Given the description of an element on the screen output the (x, y) to click on. 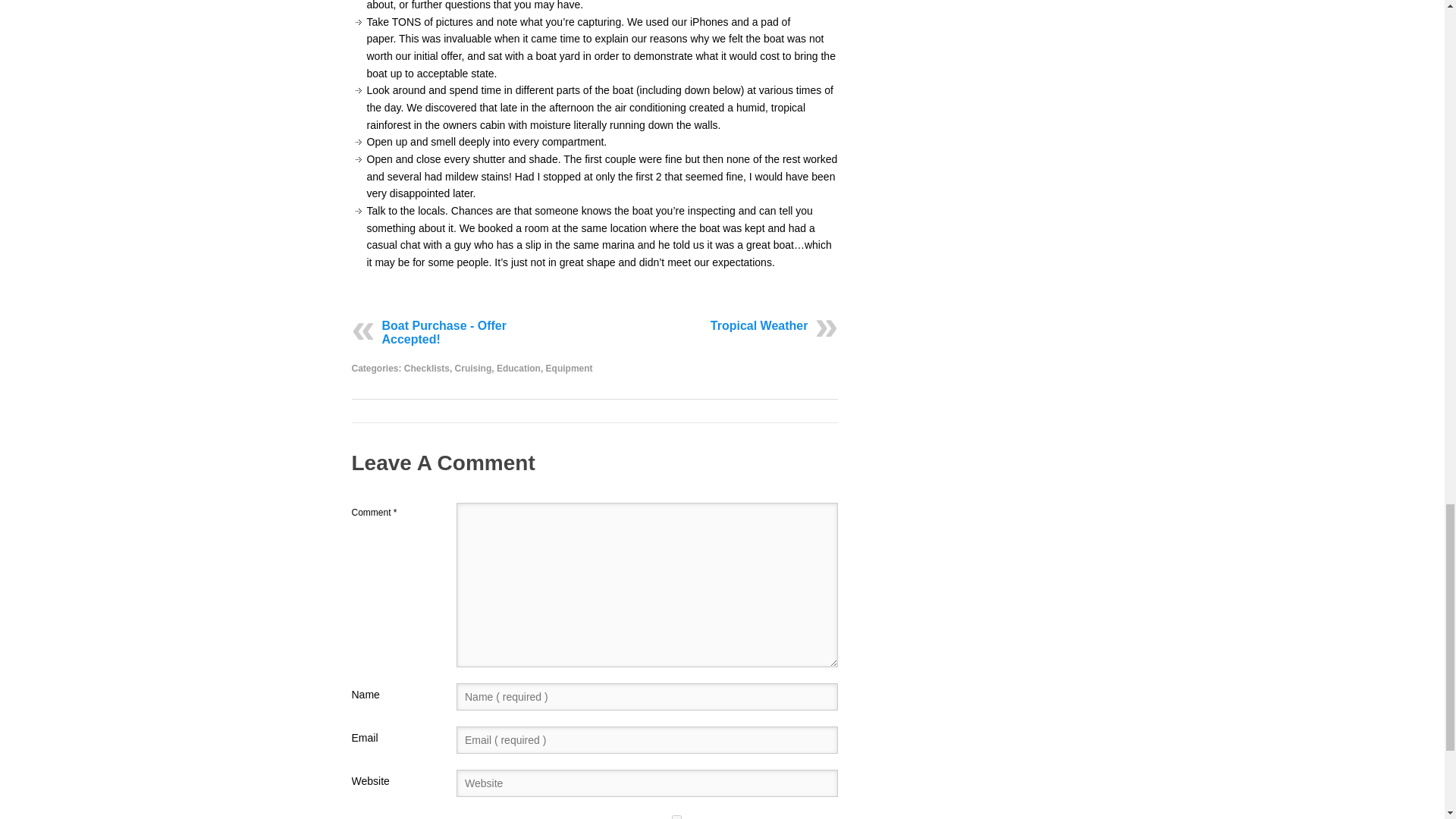
Education (518, 367)
Checklists (426, 367)
Equipment (569, 367)
yes (676, 816)
Tropical Weather (759, 324)
Cruising (473, 367)
Boat Purchase - Offer Accepted! (443, 331)
